Given the description of an element on the screen output the (x, y) to click on. 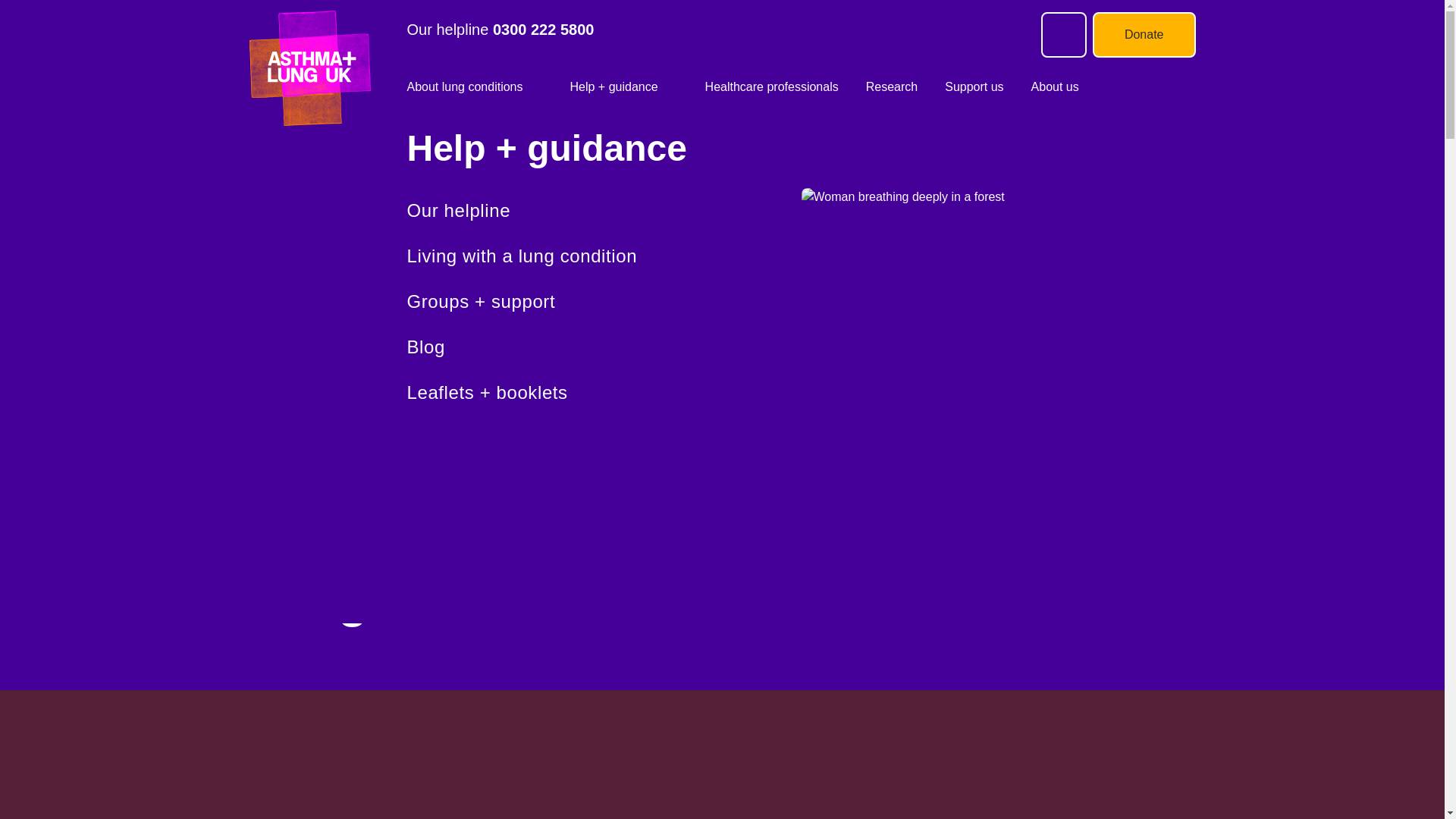
Donate (1144, 34)
Find your condition (603, 210)
How your lungs work (603, 301)
About lung conditions (464, 85)
Homepage (327, 68)
Healthcare professionals (771, 85)
Support us (973, 85)
About us (1054, 85)
Blog (603, 347)
Healthcare professionals (771, 85)
Blog (603, 347)
Research (891, 85)
Symptoms, tests and treatments (603, 256)
About us (1054, 85)
Find your condition (603, 210)
